Given the description of an element on the screen output the (x, y) to click on. 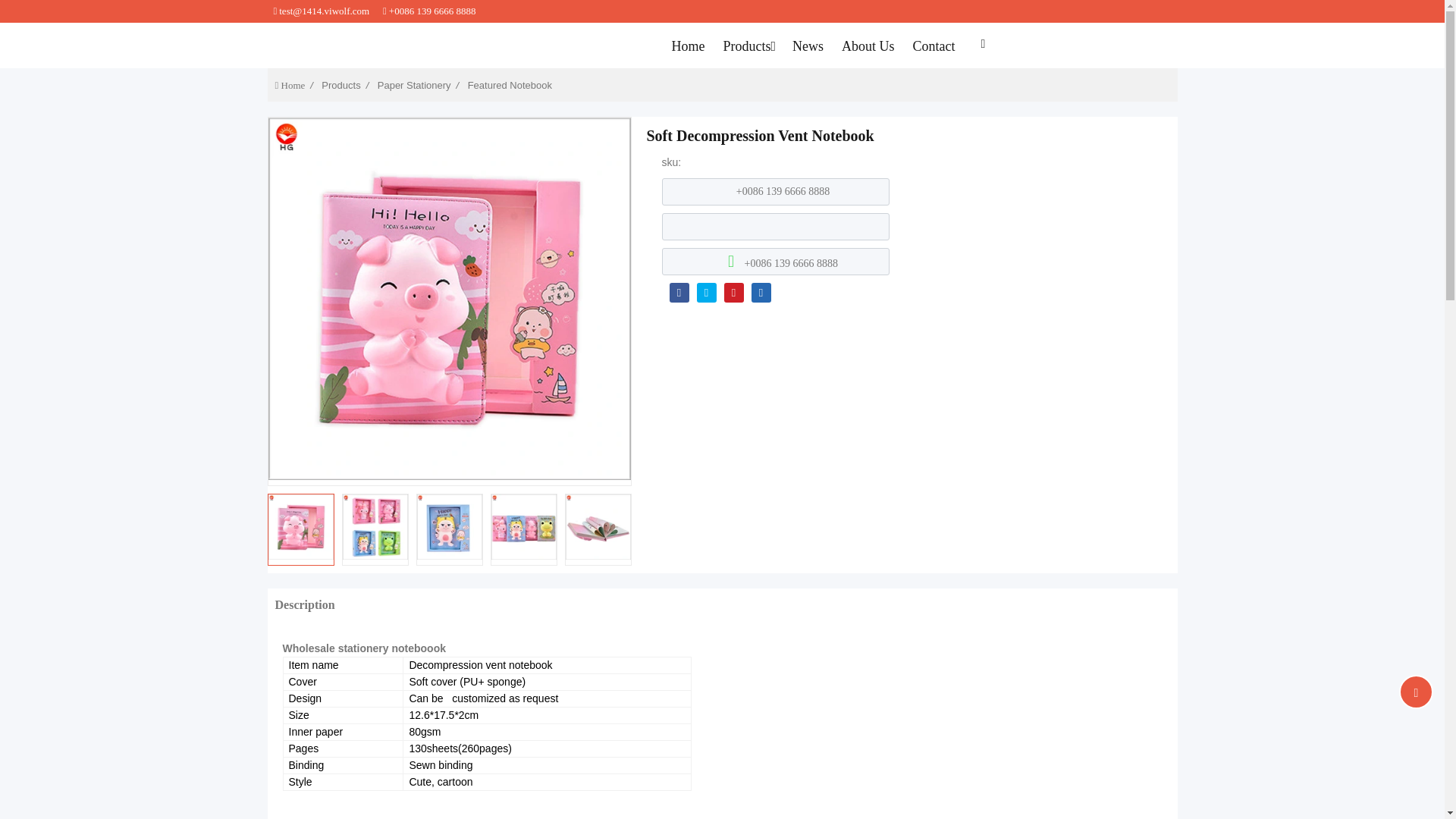
Pinterest (732, 291)
Facebook (678, 291)
Twitter (705, 291)
Linkedin (760, 291)
About Us (868, 45)
Home (687, 45)
Products (748, 45)
News (807, 45)
Contact (933, 45)
